Given the description of an element on the screen output the (x, y) to click on. 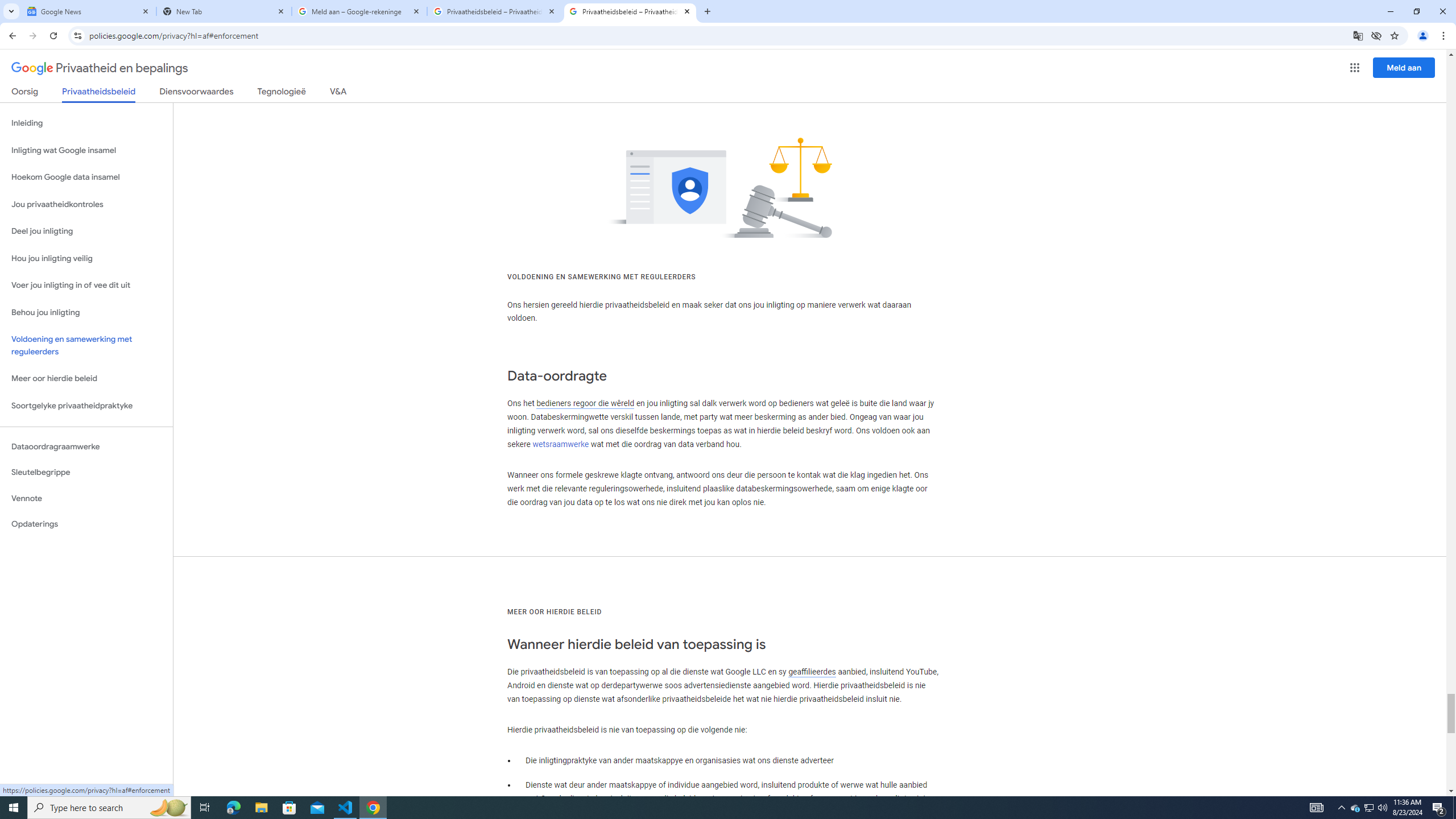
Diensvoorwaardes (196, 93)
Oorsig (25, 93)
Dataoordragraamwerke (86, 446)
Google News (88, 11)
Privaatheid en bepalings (99, 68)
geaffilieerdes (811, 671)
Meld aan (1404, 67)
